Given the description of an element on the screen output the (x, y) to click on. 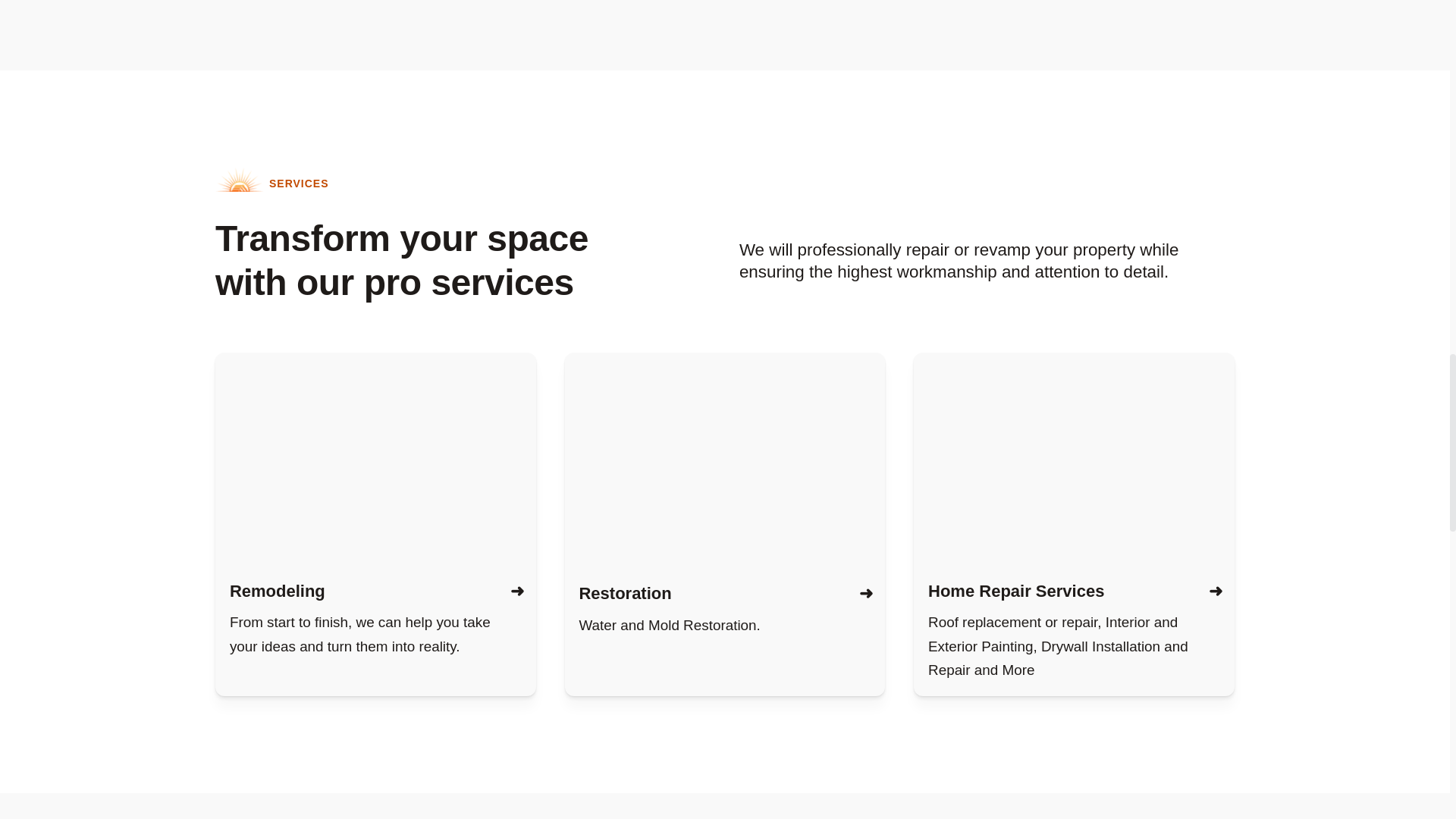
Home Repair Services (1015, 590)
Remodeling (277, 590)
Restoration (624, 592)
